Given the description of an element on the screen output the (x, y) to click on. 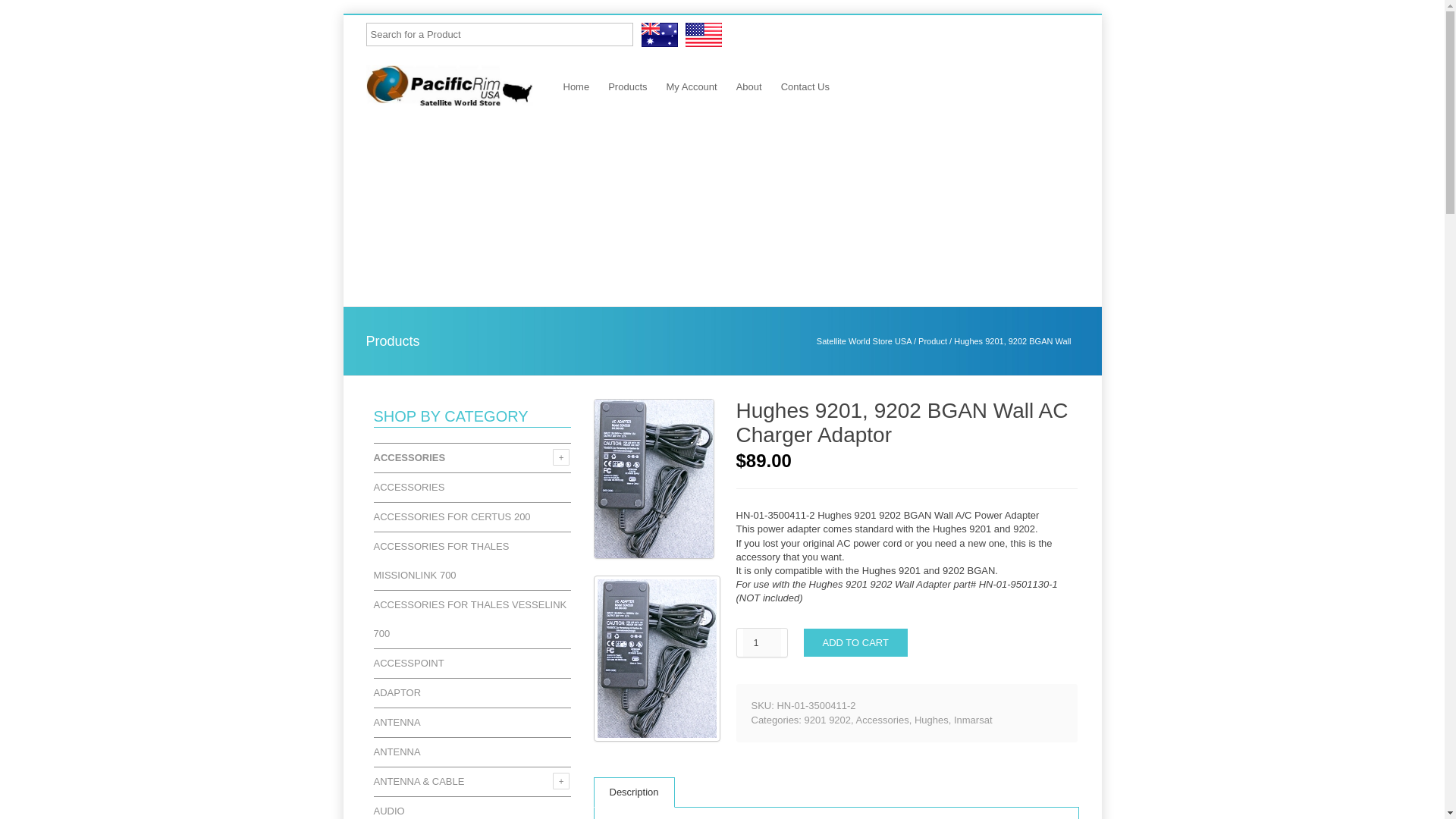
Satellite World Store (660, 44)
Satellite World Store USA (703, 44)
Hughes 9201, 9202 BGAN Wall AC Charger Adaptor 2 (663, 737)
1 (761, 642)
Hughes 9201, 9202 BGAN Wall AC Charger Adaptor 1 (652, 555)
Qty (761, 642)
